Given the description of an element on the screen output the (x, y) to click on. 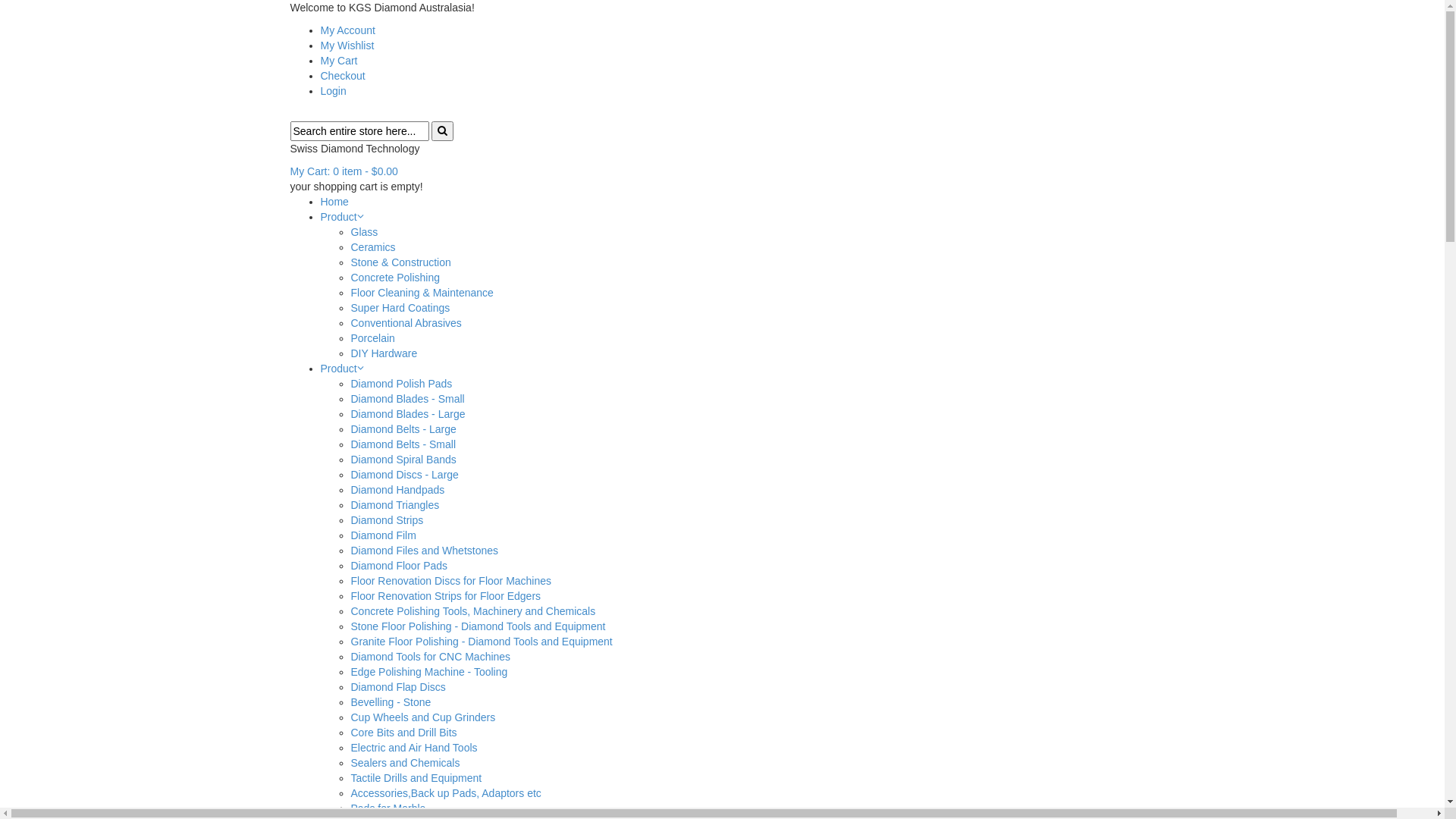
Diamond Film Element type: text (382, 535)
Diamond Floor Pads Element type: text (398, 565)
Login Element type: text (332, 90)
DIY Hardware Element type: text (383, 353)
Product Element type: text (338, 216)
Product Element type: text (338, 368)
Search Element type: hover (442, 131)
Conventional Abrasives Element type: text (405, 322)
Granite Floor Polishing - Diamond Tools and Equipment Element type: text (480, 641)
My Wishlist Element type: text (346, 45)
Home Element type: text (334, 201)
My Cart Element type: text (338, 60)
Stone & Construction Element type: text (400, 262)
Core Bits and Drill Bits Element type: text (403, 732)
Diamond Triangles Element type: text (394, 504)
Diamond Polish Pads Element type: text (400, 383)
Cup Wheels and Cup Grinders Element type: text (422, 717)
Bevelling - Stone Element type: text (390, 702)
My Account Element type: text (347, 30)
Diamond Files and Whetstones Element type: text (424, 550)
Diamond Tools for CNC Machines Element type: text (430, 656)
Checkout Element type: text (342, 75)
Tactile Drills and Equipment Element type: text (415, 777)
Diamond Blades - Large Element type: text (407, 413)
Sealers and Chemicals Element type: text (404, 762)
Accessories,Back up Pads, Adaptors etc Element type: text (445, 793)
Stone Floor Polishing - Diamond Tools and Equipment Element type: text (477, 626)
Floor Cleaning & Maintenance Element type: text (421, 292)
Electric and Air Hand Tools Element type: text (413, 747)
Diamond Belts - Large Element type: text (402, 429)
Diamond Handpads Element type: text (397, 489)
Concrete Polishing Element type: text (394, 277)
Diamond Blades - Small Element type: text (407, 398)
Super Hard Coatings Element type: text (399, 307)
Ceramics Element type: text (372, 247)
My Cart: 0 item - $0.00 Element type: text (343, 171)
Floor Renovation Discs for Floor Machines Element type: text (450, 580)
Porcelain Element type: text (372, 338)
Glass Element type: text (363, 231)
Pads for Marble Element type: text (387, 808)
Floor Renovation Strips for Floor Edgers Element type: text (445, 595)
Diamond Discs - Large Element type: text (404, 474)
Diamond Flap Discs Element type: text (397, 686)
Diamond Belts - Small Element type: text (402, 444)
Diamond Spiral Bands Element type: text (402, 459)
Concrete Polishing Tools, Machinery and Chemicals Element type: text (472, 611)
Edge Polishing Machine - Tooling Element type: text (428, 671)
Diamond Strips Element type: text (386, 520)
